Given the description of an element on the screen output the (x, y) to click on. 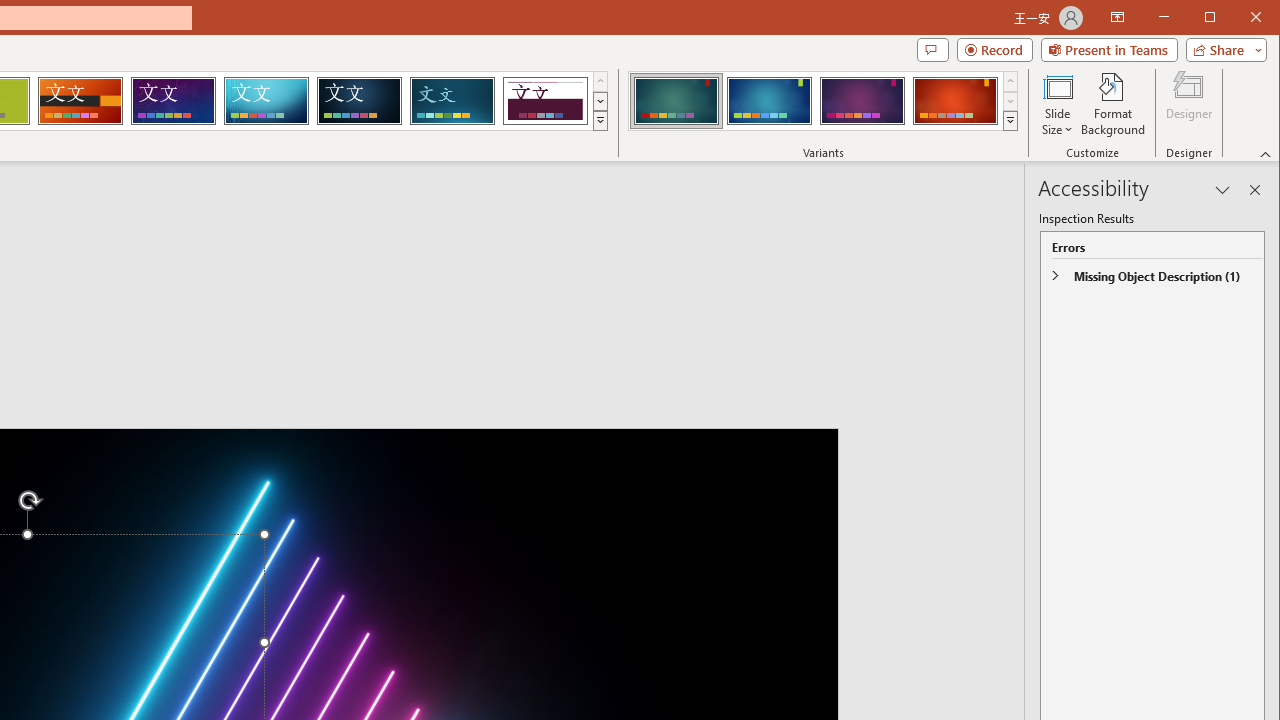
Celestial (173, 100)
Ion Variant 1 (676, 100)
Task Pane Options (1222, 189)
AutomationID: ThemeVariantsGallery (824, 101)
Close (1261, 18)
Minimize (1216, 18)
Format Background (1113, 104)
Class: NetUIImage (1011, 120)
Ion Variant 3 (862, 100)
Row up (1010, 81)
Variants (1010, 120)
Damask (359, 100)
Designer (1188, 104)
